Given the description of an element on the screen output the (x, y) to click on. 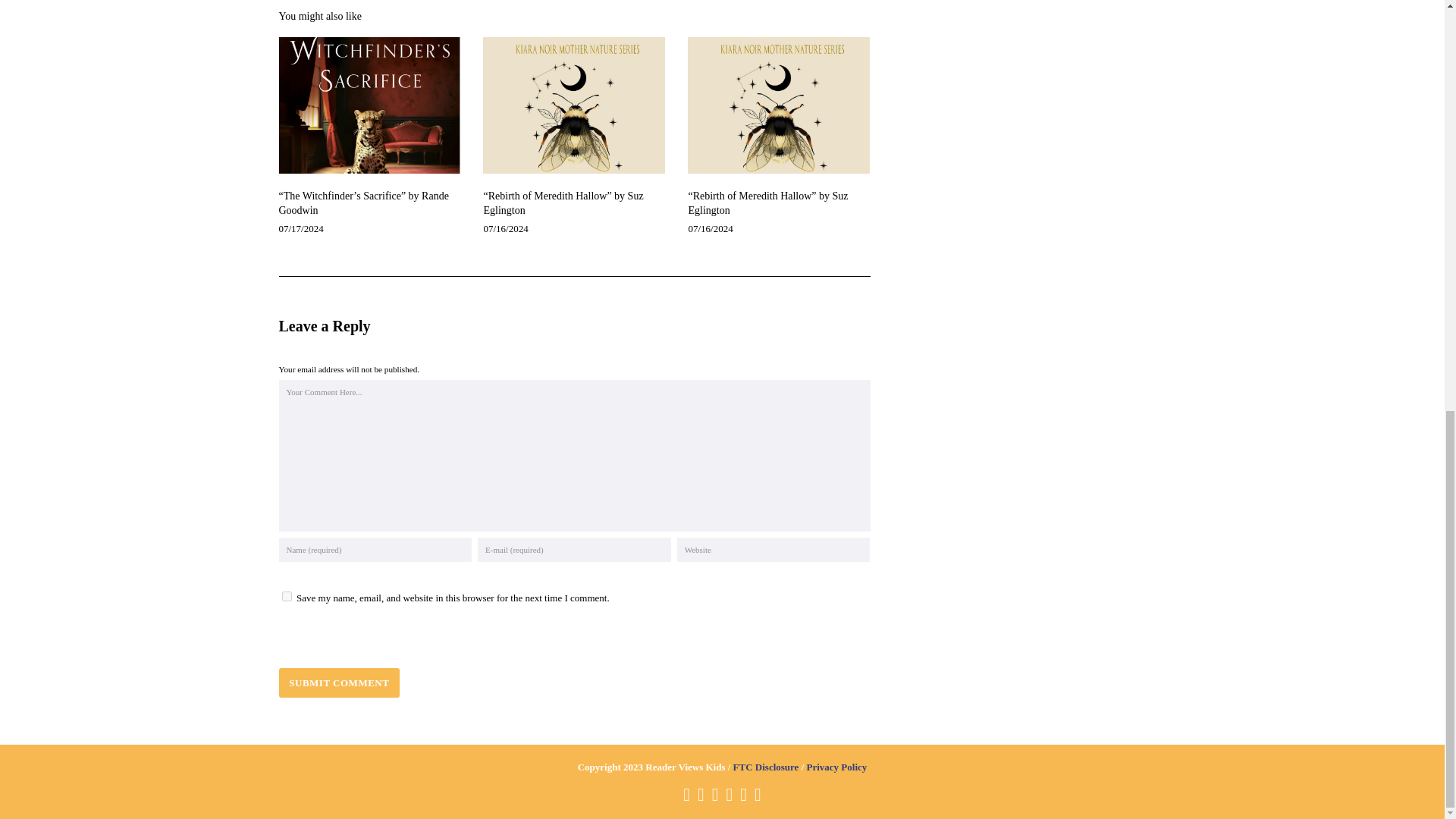
Submit Comment (339, 682)
yes (287, 596)
